Given the description of an element on the screen output the (x, y) to click on. 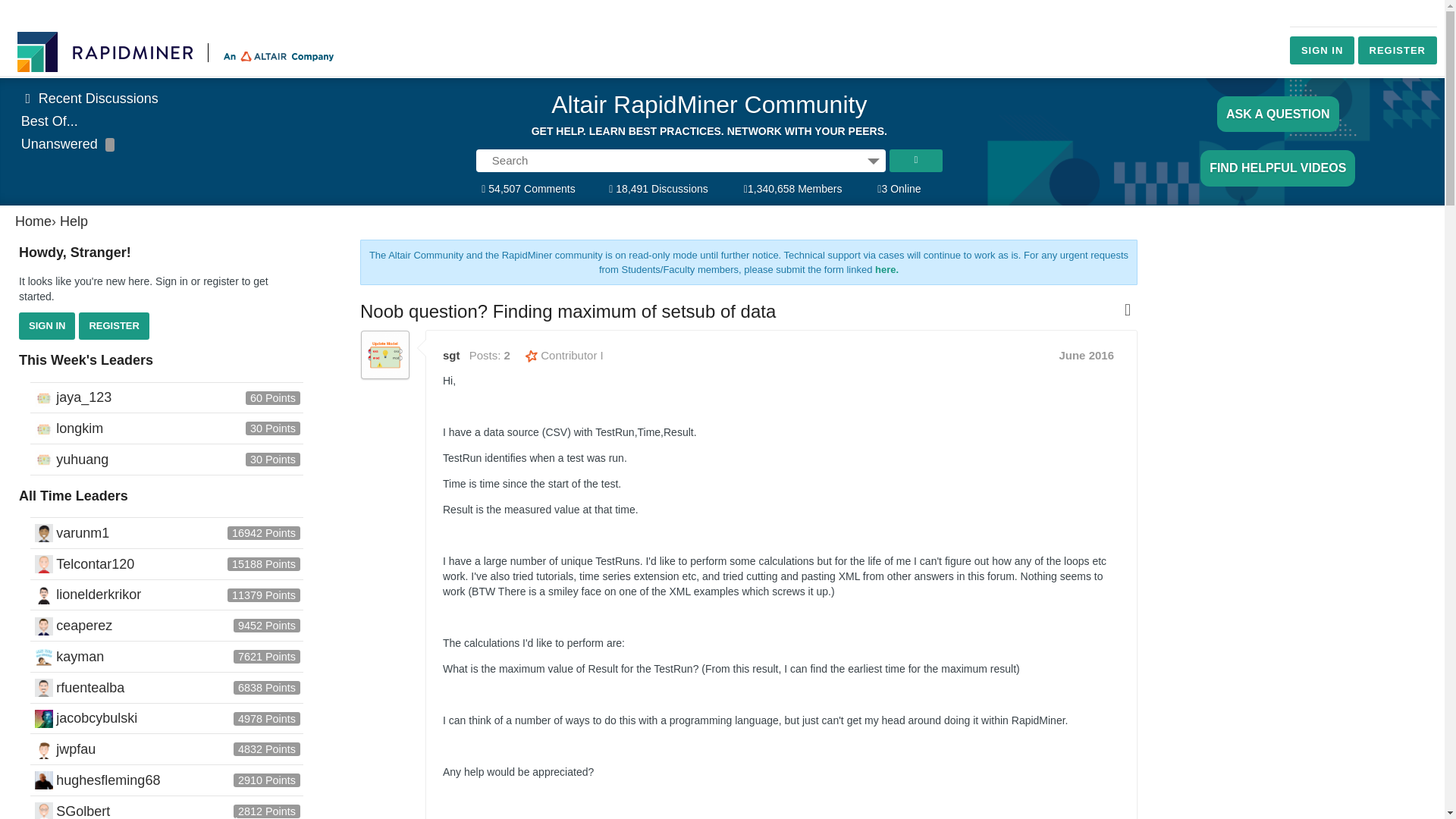
June 3, 2016 12:45AM (1085, 354)
Home (32, 221)
sgt (385, 354)
REGISTER (113, 325)
Help (73, 221)
Unanswered (68, 143)
Altair RapidMiner Community (708, 109)
ASK A QUESTION (1278, 113)
FIND HELPFUL VIDEOS (1277, 167)
RapidMiner Community (177, 52)
SIGN IN (1322, 50)
Options (873, 160)
Contributor I (564, 354)
SIGN IN (46, 325)
Search (915, 160)
